Given the description of an element on the screen output the (x, y) to click on. 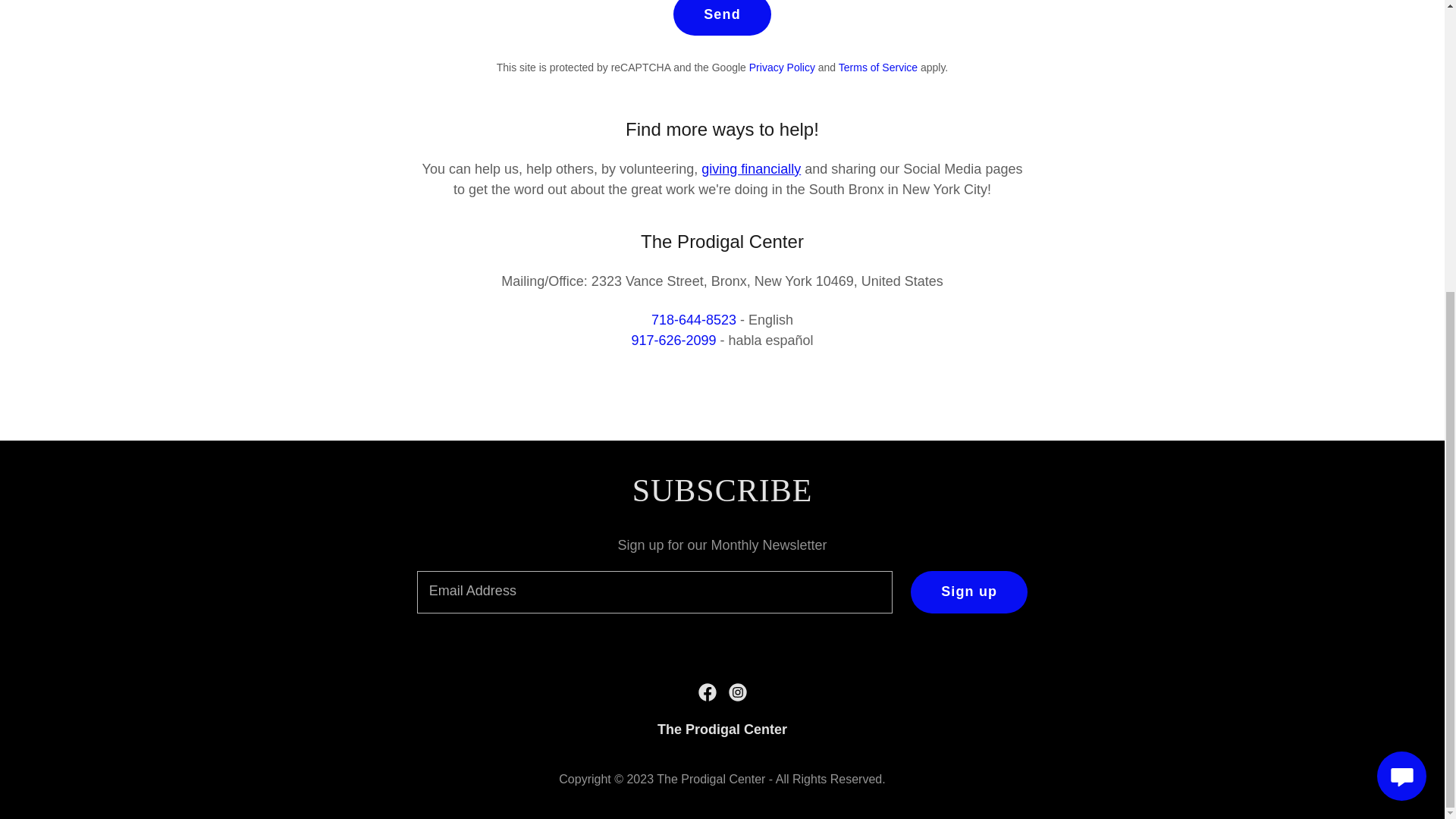
Privacy Policy (782, 67)
917-626-2099 (673, 340)
Sign up (969, 591)
718-644-8523 (693, 319)
Send (721, 18)
Terms of Service (877, 67)
giving financially (750, 168)
